Given the description of an element on the screen output the (x, y) to click on. 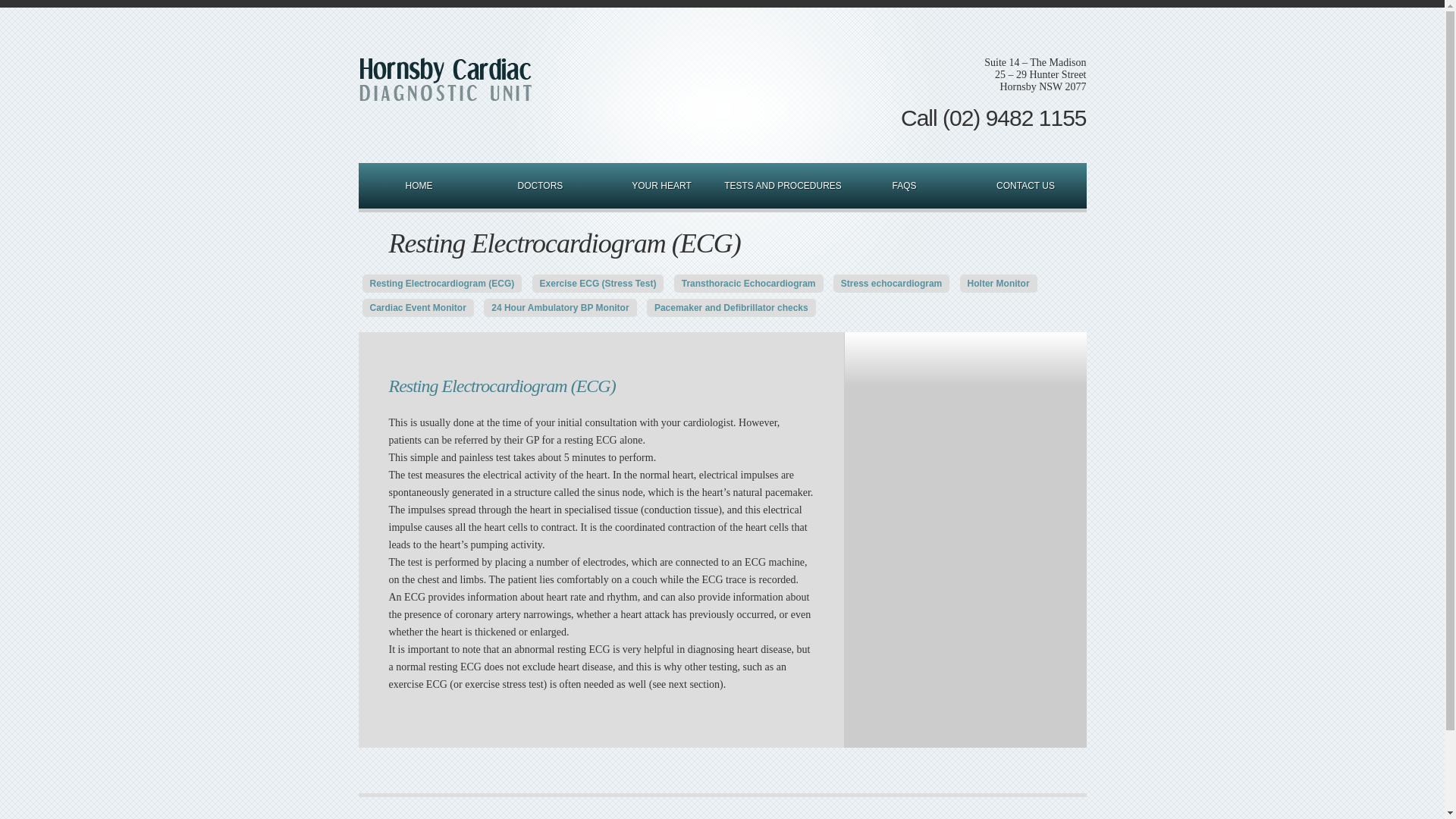
YOUR HEART Element type: text (660, 185)
FAQS Element type: text (903, 185)
Exercise ECG (Stress Test) Element type: text (598, 283)
Resting Electrocardiogram (ECG) Element type: text (442, 283)
Holter Monitor Element type: text (998, 283)
Transthoracic Echocardiogram Element type: text (748, 283)
HOME Element type: text (418, 185)
24 Hour Ambulatory BP Monitor Element type: text (559, 307)
DOCTORS Element type: text (539, 185)
CONTACT US Element type: text (1024, 185)
Stress echocardiogram Element type: text (891, 283)
TESTS AND PROCEDURES Element type: text (782, 185)
Pacemaker and Defibrillator checks Element type: text (730, 307)
Cardiac Event Monitor Element type: text (417, 307)
